Given the description of an element on the screen output the (x, y) to click on. 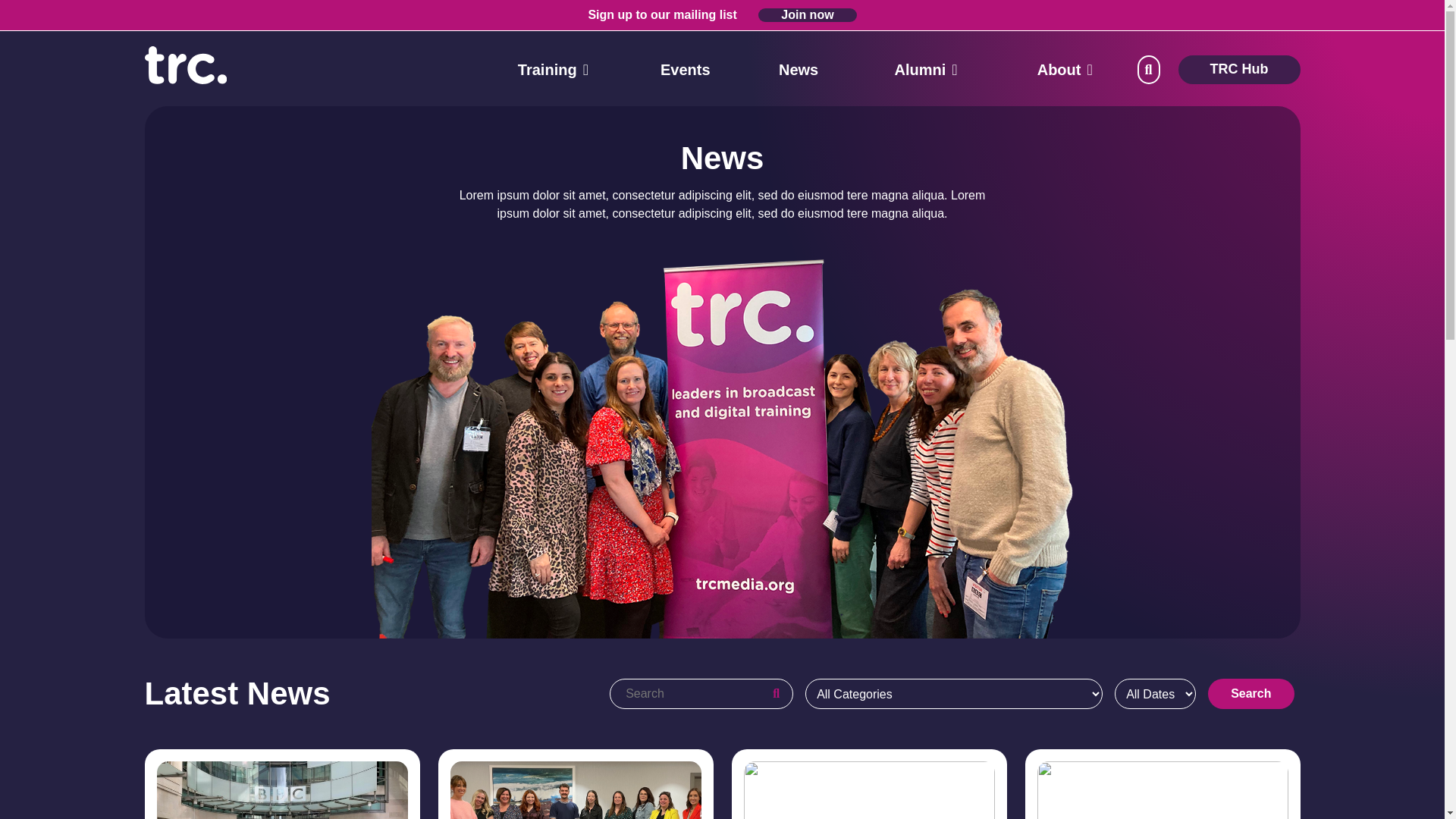
Alumni (920, 69)
Search (1251, 693)
Events (685, 69)
TRC Hub (1238, 69)
News (798, 69)
Training (547, 69)
Search (20, 10)
About (1058, 69)
Subscribe to our mailing list (807, 15)
TRC Media home page (184, 63)
Join now (807, 15)
